Given the description of an element on the screen output the (x, y) to click on. 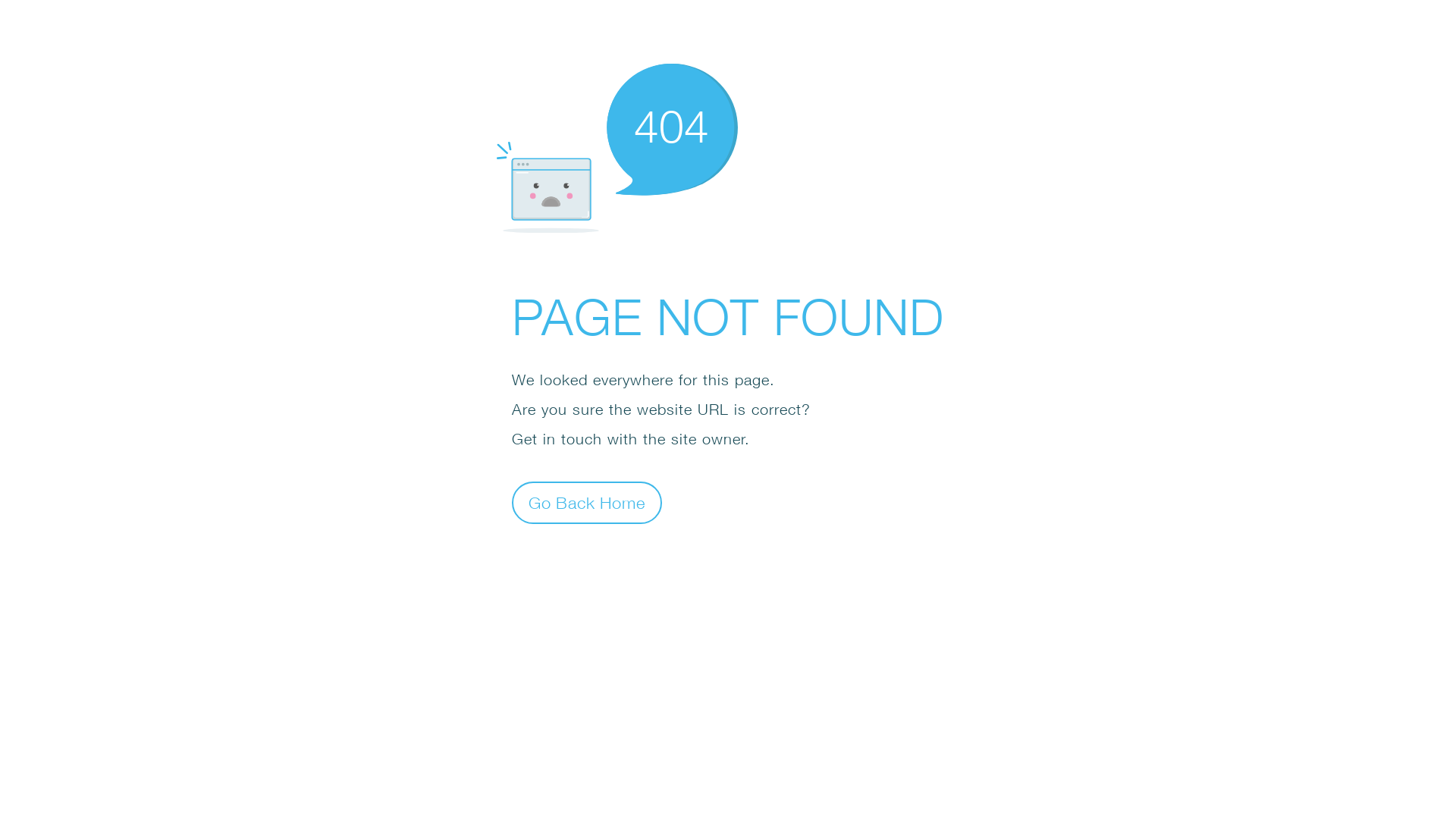
Go Back Home Element type: text (586, 502)
